Given the description of an element on the screen output the (x, y) to click on. 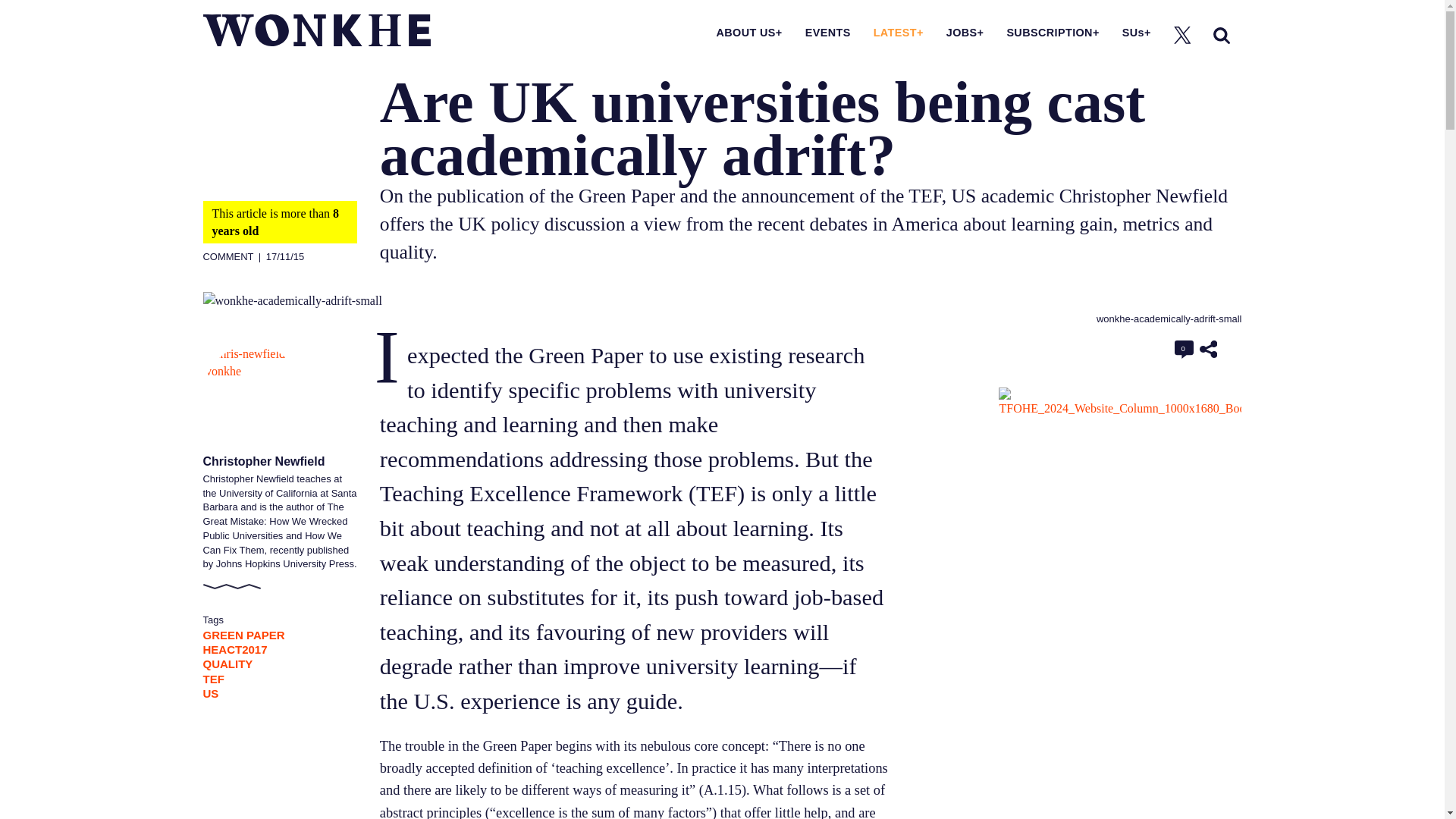
LATEST (898, 32)
ABOUT US (748, 32)
EVENTS (827, 32)
SUs (1136, 32)
icon-search (1221, 35)
icon-comments (1183, 349)
icon-share (1208, 348)
SUBSCRIPTION (1052, 32)
icon-search (1221, 35)
JOBS (965, 32)
